Given the description of an element on the screen output the (x, y) to click on. 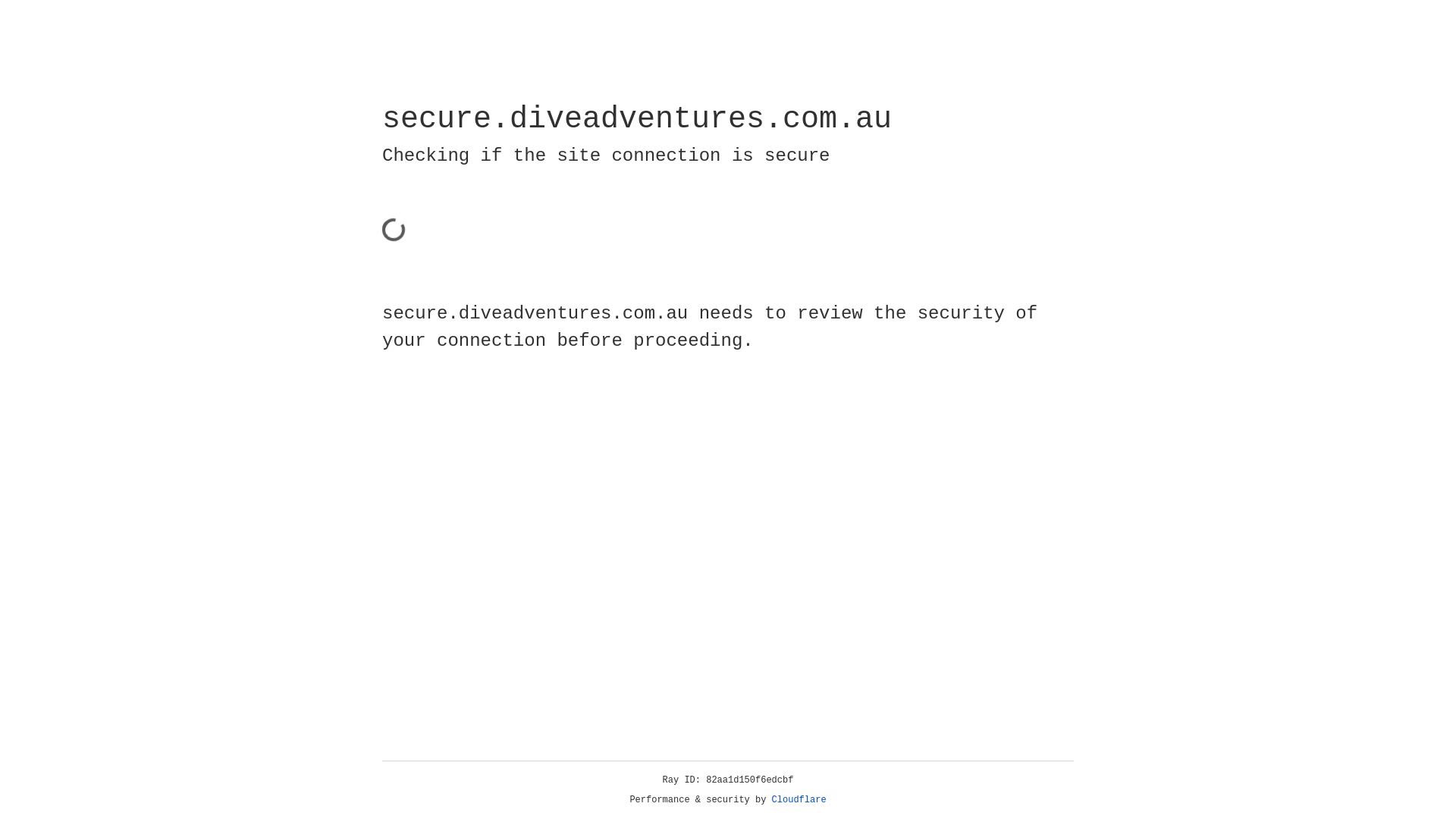
Cloudflare Element type: text (798, 799)
